Given the description of an element on the screen output the (x, y) to click on. 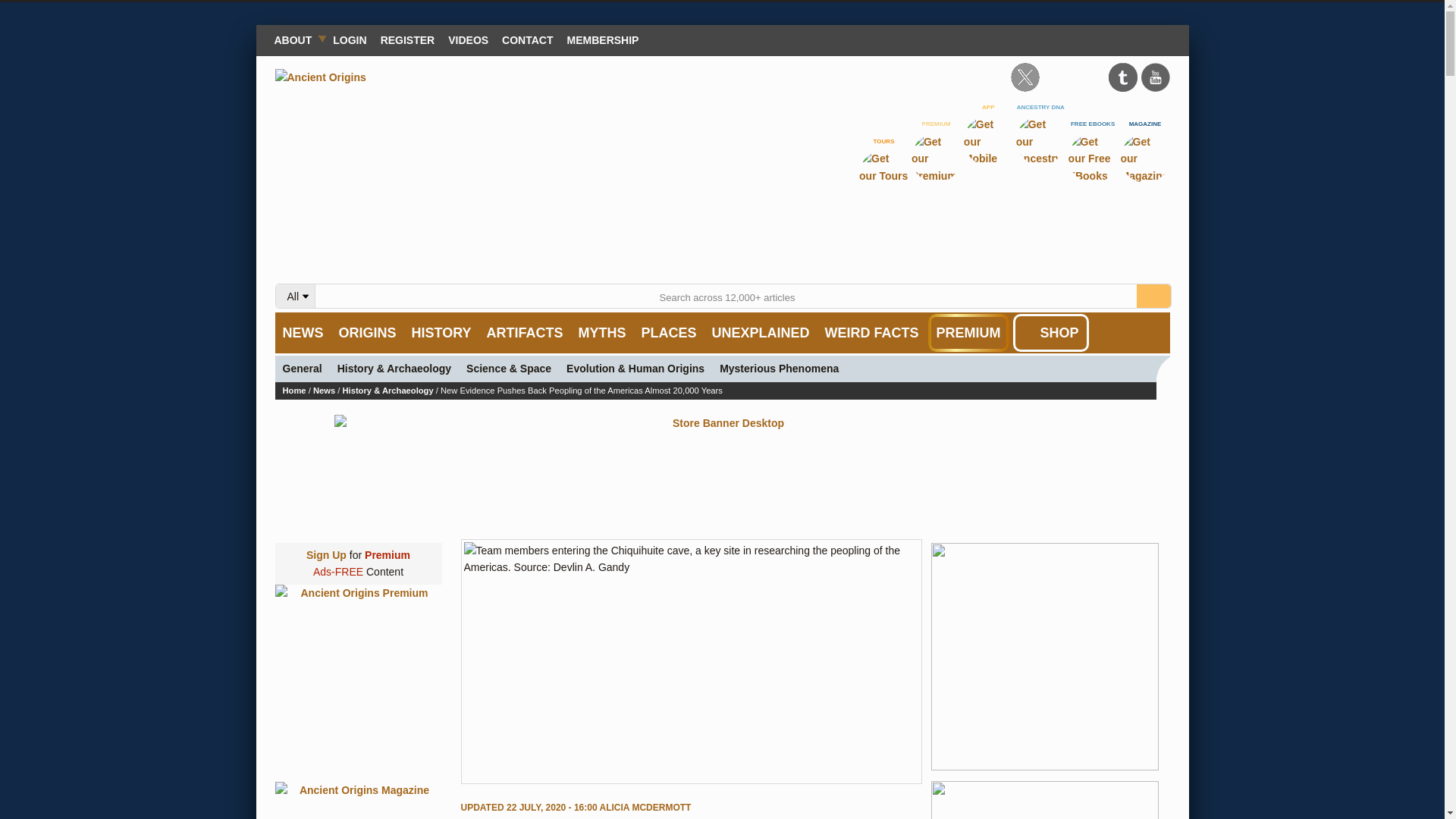
VIDEOS (468, 40)
Login (349, 40)
Video Gallery (468, 40)
ABOUT (296, 40)
REGISTER (408, 40)
Contact us (526, 40)
LOGIN (349, 40)
MEMBERSHIP (603, 40)
CONTACT (526, 40)
